Given the description of an element on the screen output the (x, y) to click on. 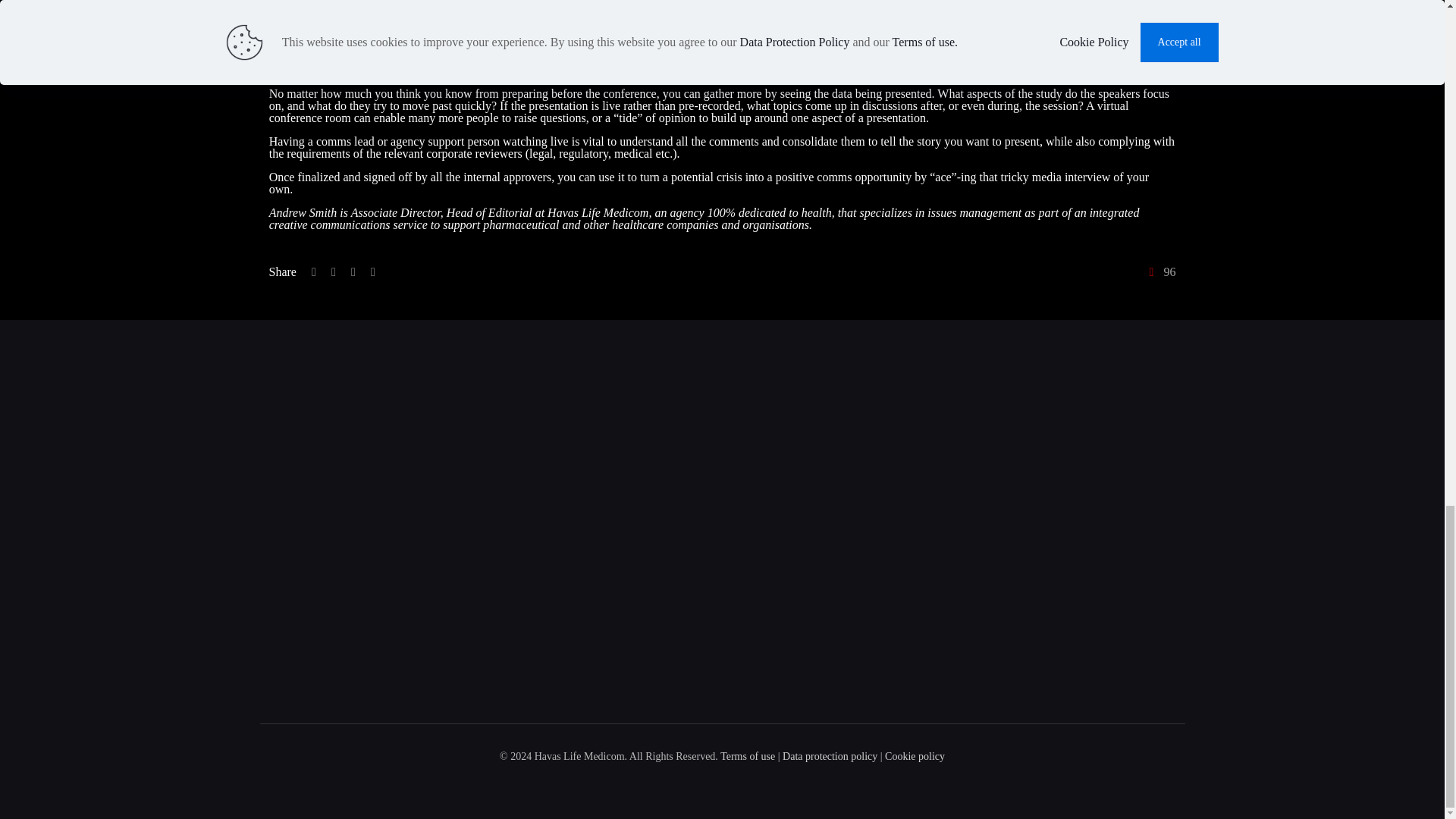
96 (1159, 272)
